Given the description of an element on the screen output the (x, y) to click on. 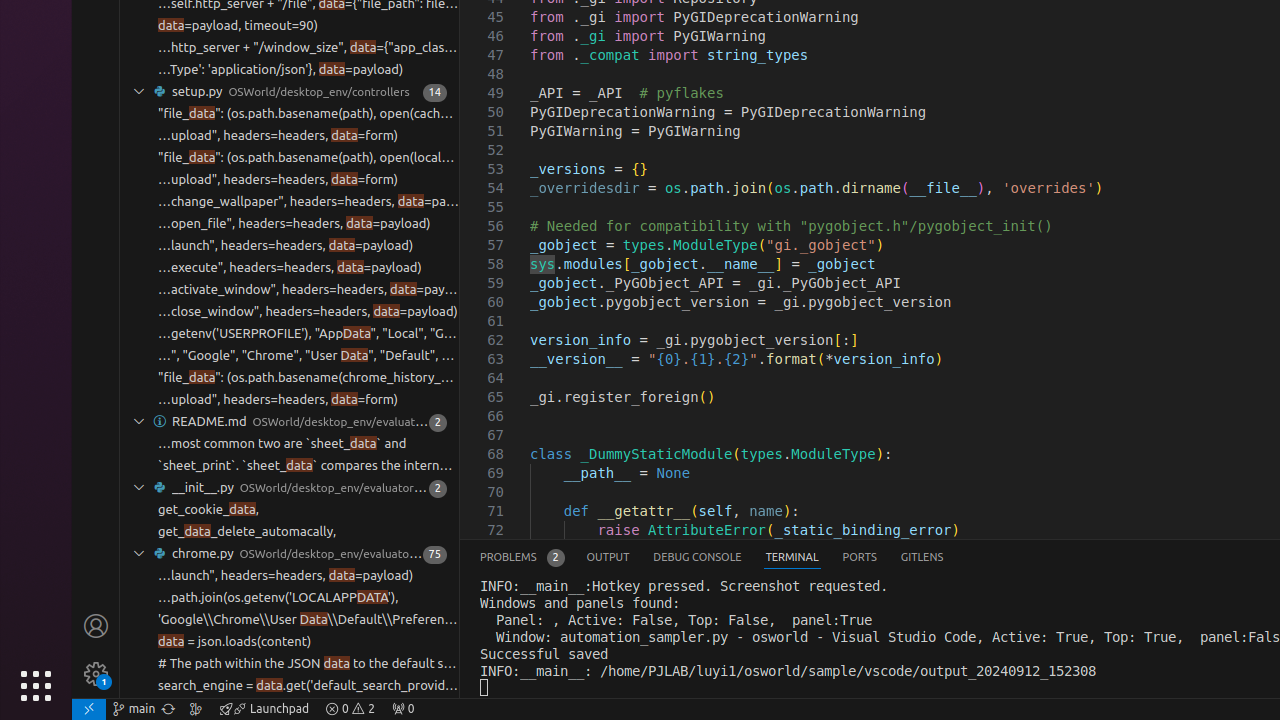
' data=payload, timeout=90)' at column 42 found data Element type: tree-item (289, 25)
…change_wallpaper", headers=headers, data=payload) Element type: link (308, 201)
…getenv('USERPROFILE'), "AppData", "Local", "Google", "Chrome", "User Data", "Default", "History"))""")[ Element type: link (308, 333)
…path.join(os.getenv('LOCALAPPDATA'), Element type: link (278, 597)
' # The path within the JSON data to the default search engine might vary' at column 36 found data Element type: tree-item (289, 663)
